Given the description of an element on the screen output the (x, y) to click on. 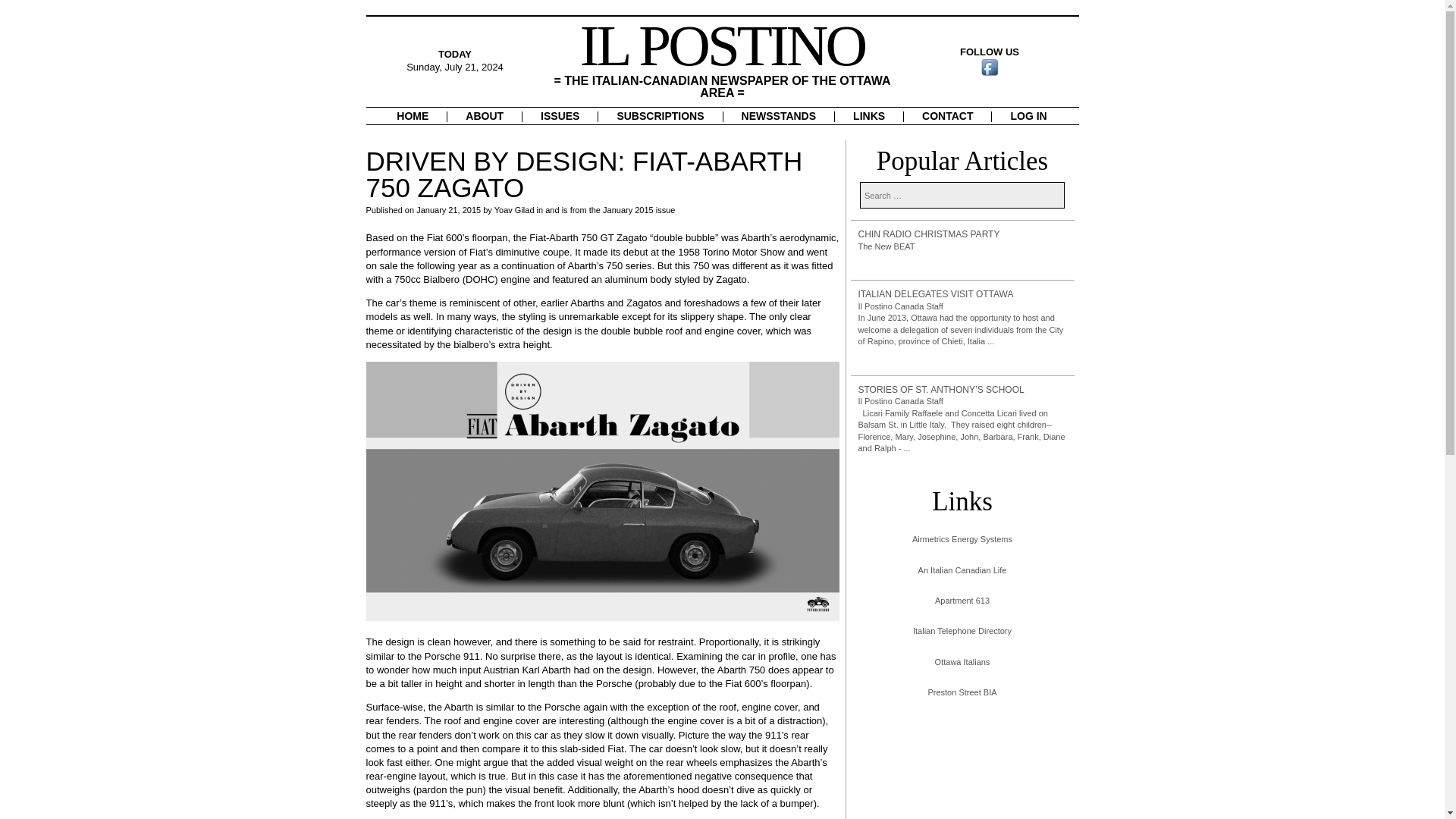
LOG IN (1027, 115)
An Italian Canadian Life (962, 570)
January 2015 (627, 209)
Airmetrics Energy Systems (962, 539)
SUBSCRIPTIONS (660, 115)
NEWSSTANDS (778, 115)
The New BEAT (887, 245)
Il Postino Canada Staff (901, 400)
ITALIAN DELEGATES VISIT OTTAWA (963, 294)
CONTACT (947, 115)
HOME (412, 115)
IL POSTINO (721, 45)
Preston Street BIA (962, 692)
ISSUES (559, 115)
